Given the description of an element on the screen output the (x, y) to click on. 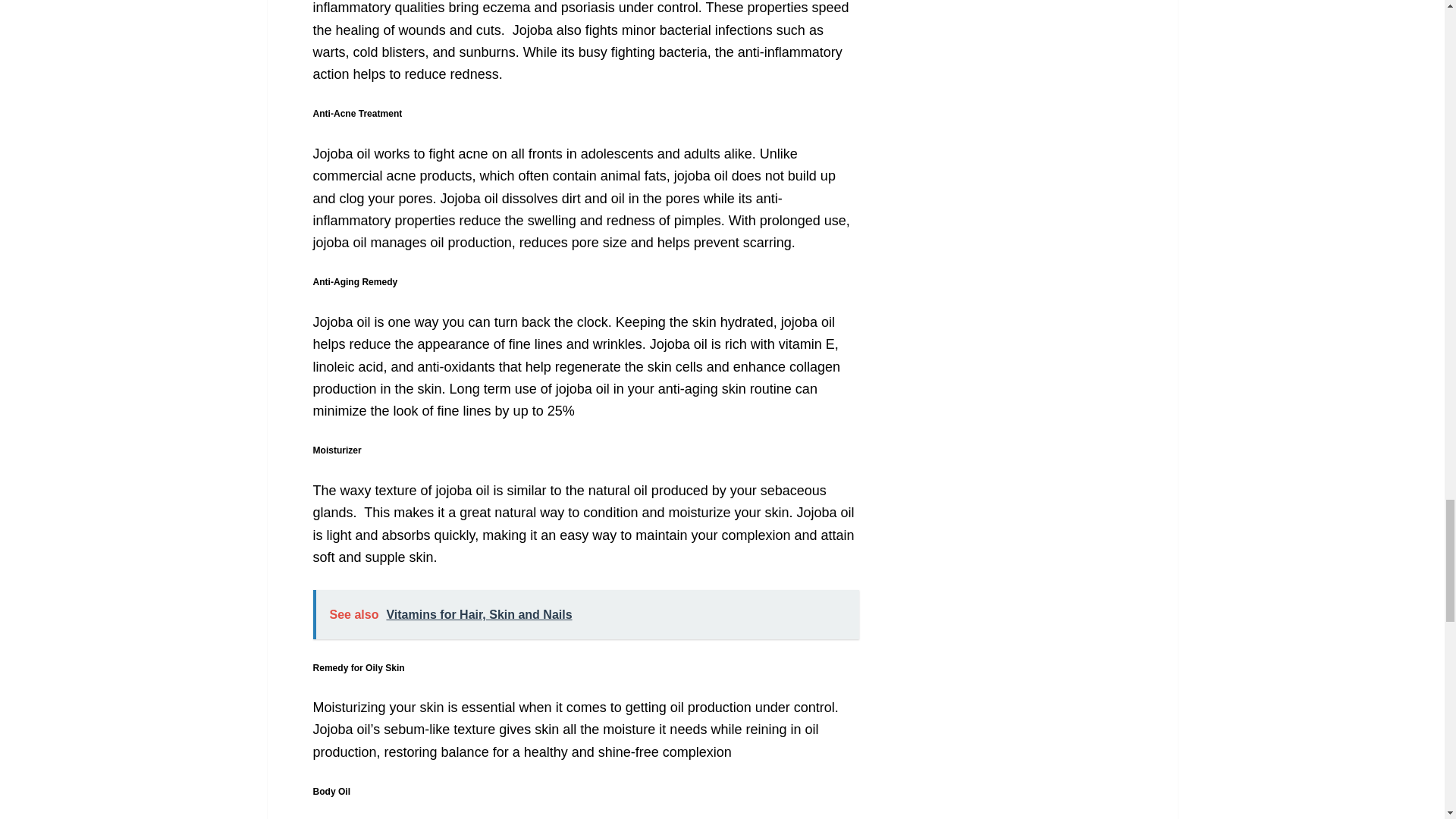
See also  Vitamins for Hair, Skin and Nails (586, 614)
